Given the description of an element on the screen output the (x, y) to click on. 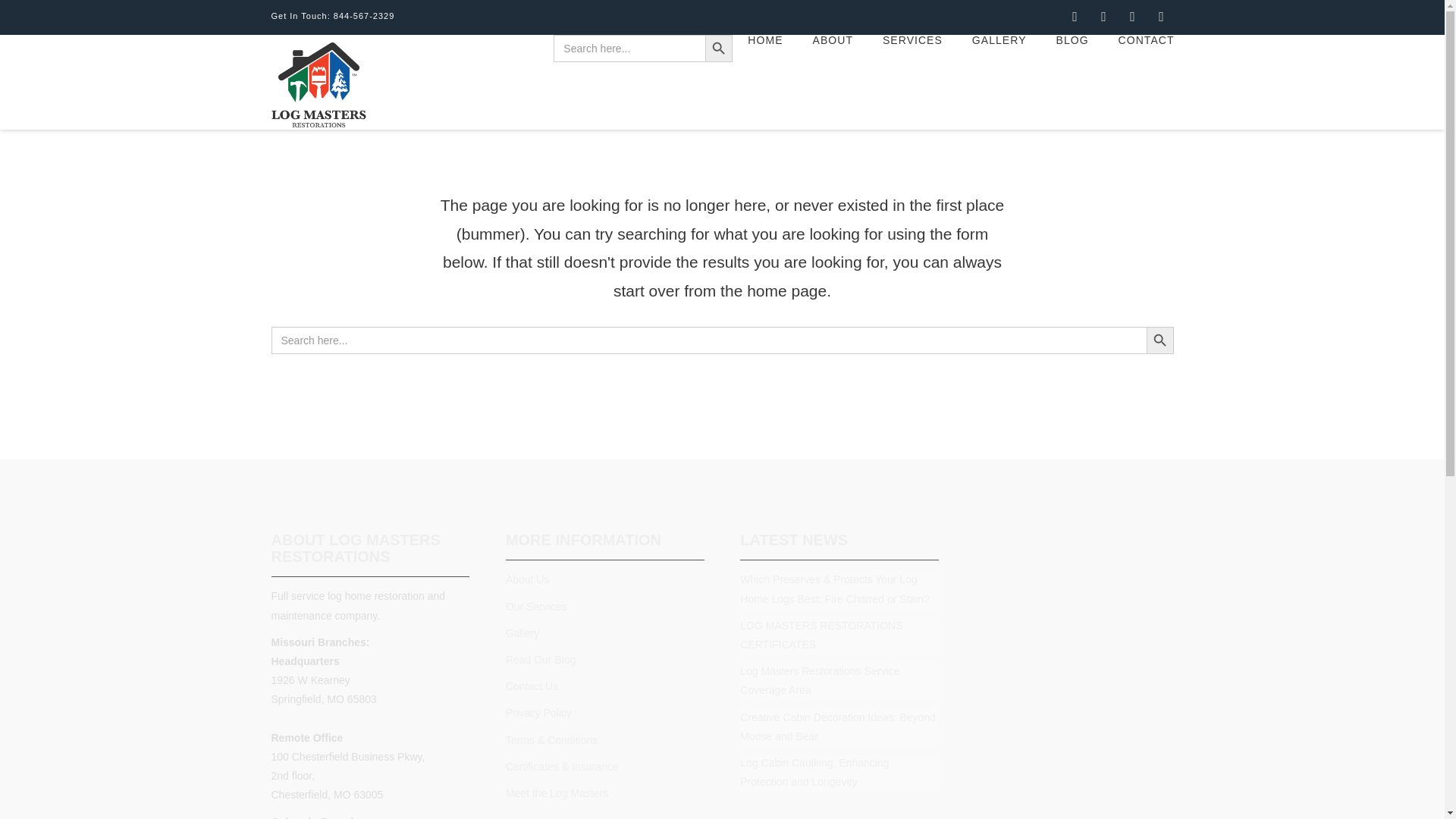
HOME (764, 69)
Instagram (1161, 16)
YouTube (1132, 16)
GALLERY (998, 69)
Search Button (1160, 339)
844-567-2329 (363, 15)
LinkedIn (1104, 16)
LOG MASTERS RESTORATIONS CERTIFICATES (820, 634)
Gallery (521, 633)
About Us (527, 579)
